Given the description of an element on the screen output the (x, y) to click on. 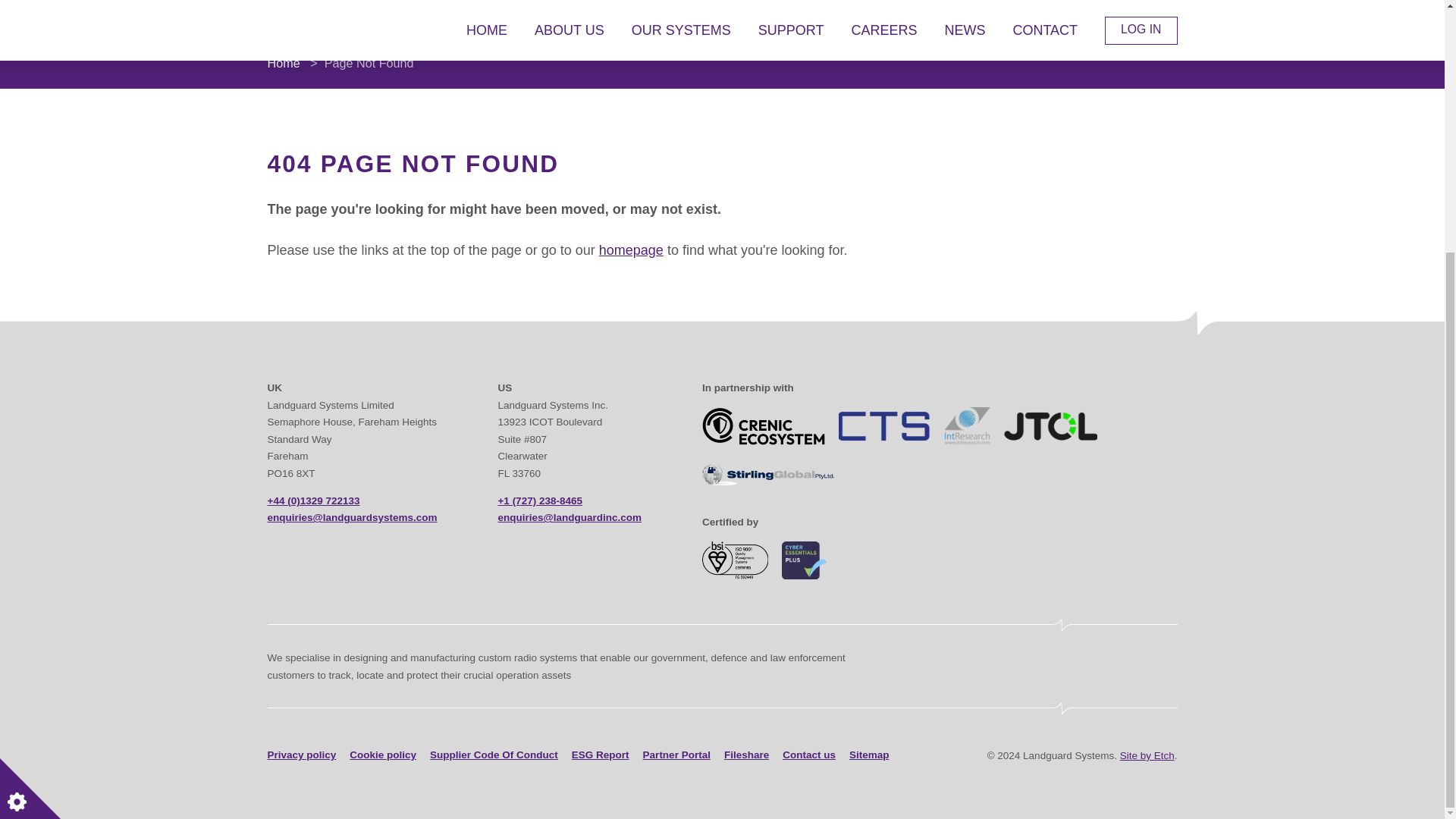
homepage (630, 249)
Cookie policy (382, 754)
Contact us (809, 754)
Fileshare (745, 754)
ESG Report (600, 754)
Site by Etch (1146, 755)
Sitemap (868, 754)
Supplier Code Of Conduct (493, 754)
Privacy policy (301, 754)
Home (282, 62)
Linkedin (930, 754)
Home (630, 249)
Partner Portal (676, 754)
